Given the description of an element on the screen output the (x, y) to click on. 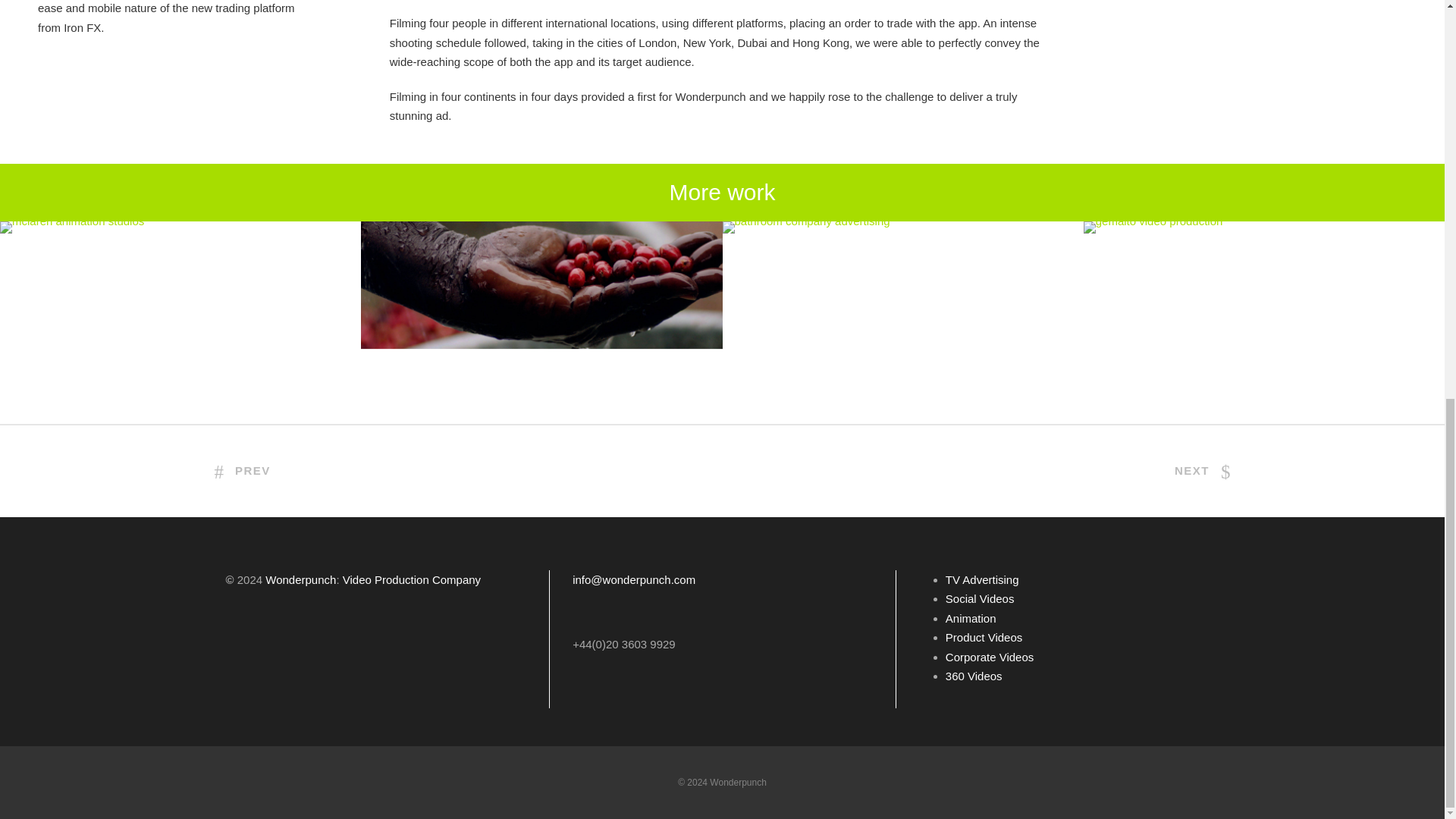
Corporate Videos (988, 656)
PREV (241, 470)
Victorian Plumbing (805, 227)
Social Videos (979, 598)
Wonderpunch (300, 579)
mclaren animation studios (72, 227)
NEXT (1202, 470)
Animation (969, 617)
Gemalto (1153, 227)
Product Videos (983, 636)
Video Production Company (411, 579)
Nespresso (541, 323)
TV Advertising (981, 579)
360 Videos (973, 675)
